Given the description of an element on the screen output the (x, y) to click on. 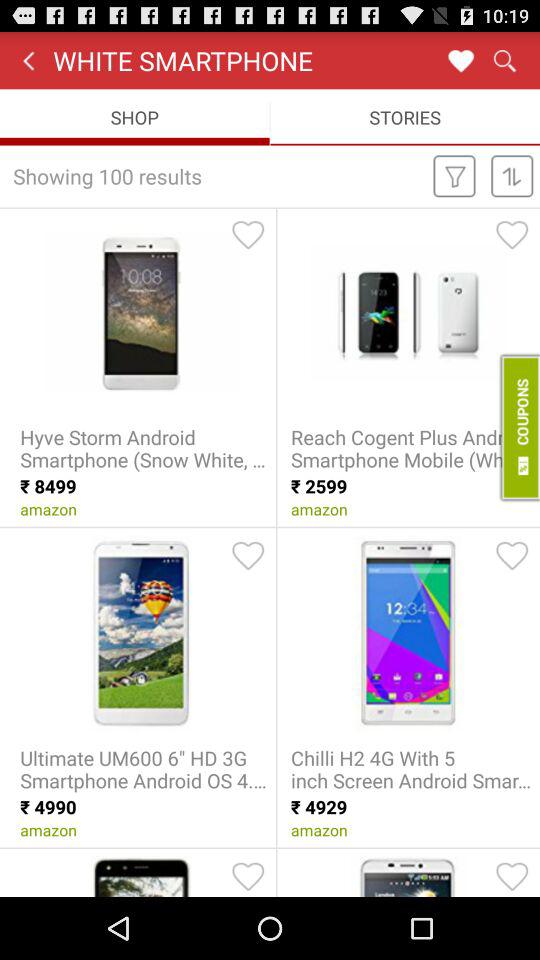
like item (512, 555)
